Given the description of an element on the screen output the (x, y) to click on. 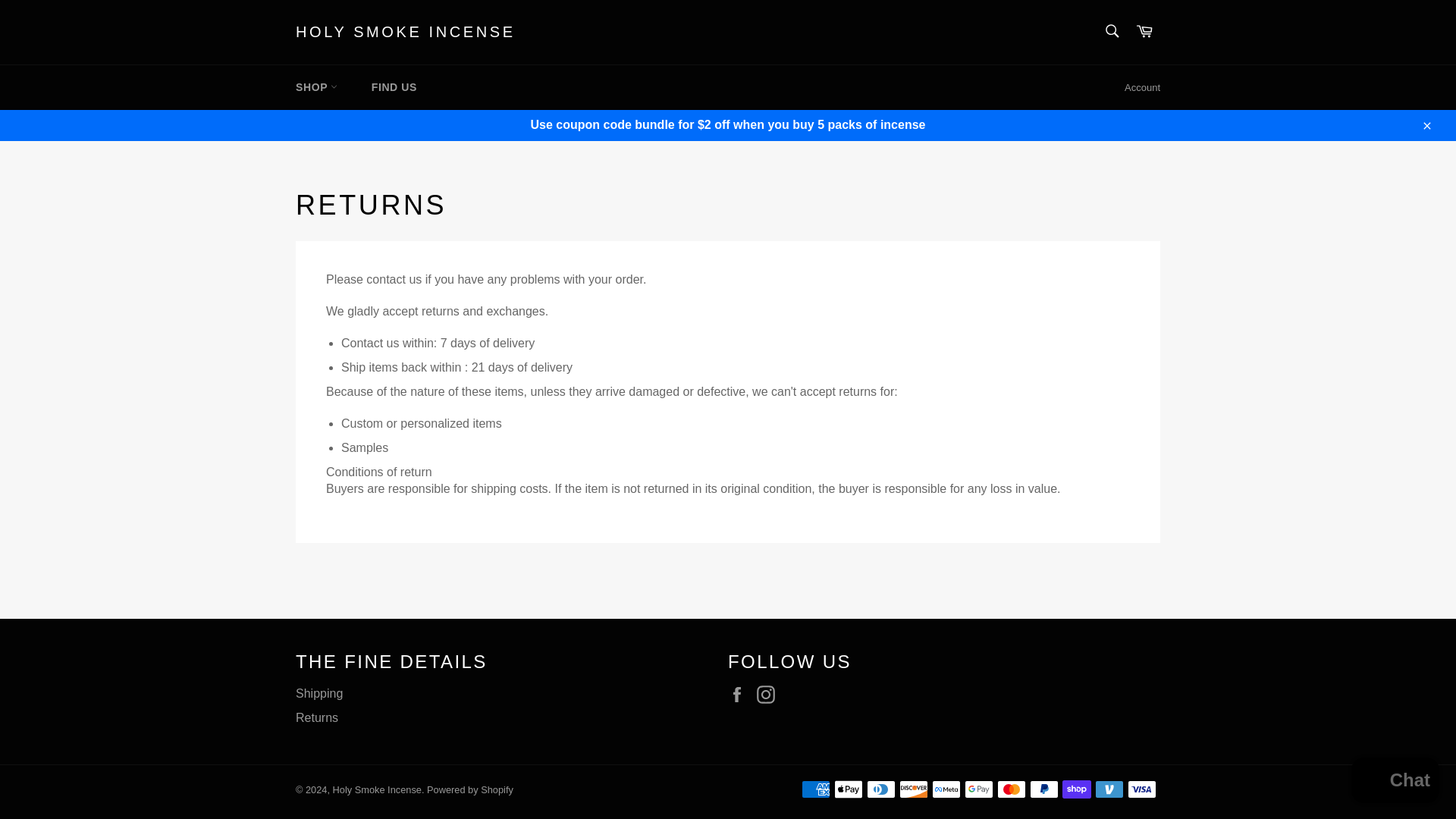
Returns (316, 717)
Search (1111, 30)
HOLY SMOKE INCENSE (405, 32)
Shipping (318, 693)
Holy Smoke Incense on Instagram (770, 694)
Close (1425, 124)
Holy Smoke Incense on Facebook (741, 694)
Account (1141, 87)
Facebook (741, 694)
FIND US (394, 87)
Shopify online store chat (1395, 781)
Cart (1144, 32)
Powered by Shopify (469, 789)
Holy Smoke Incense (377, 789)
SHOP (316, 87)
